Given the description of an element on the screen output the (x, y) to click on. 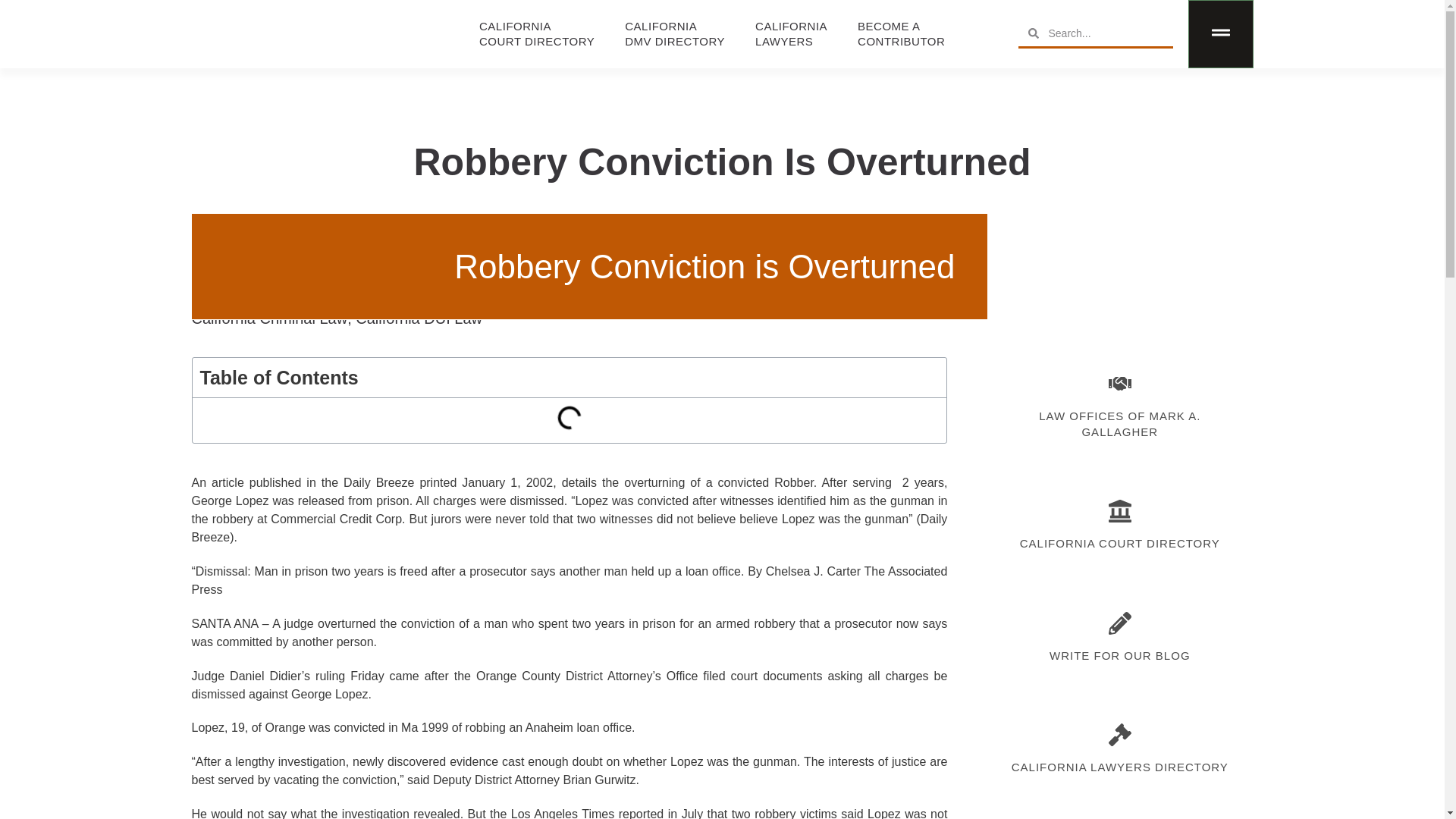
WRITE FOR OUR BLOG (1120, 655)
CALIFORNIA COURT DIRECTORY (1120, 543)
California Criminal Law (268, 318)
LAW OFFICES OF MARK A. GALLAGHER (900, 33)
California DUI Law (536, 33)
CALIFORNIA LAWYERS DIRECTORY (1119, 423)
